Given the description of an element on the screen output the (x, y) to click on. 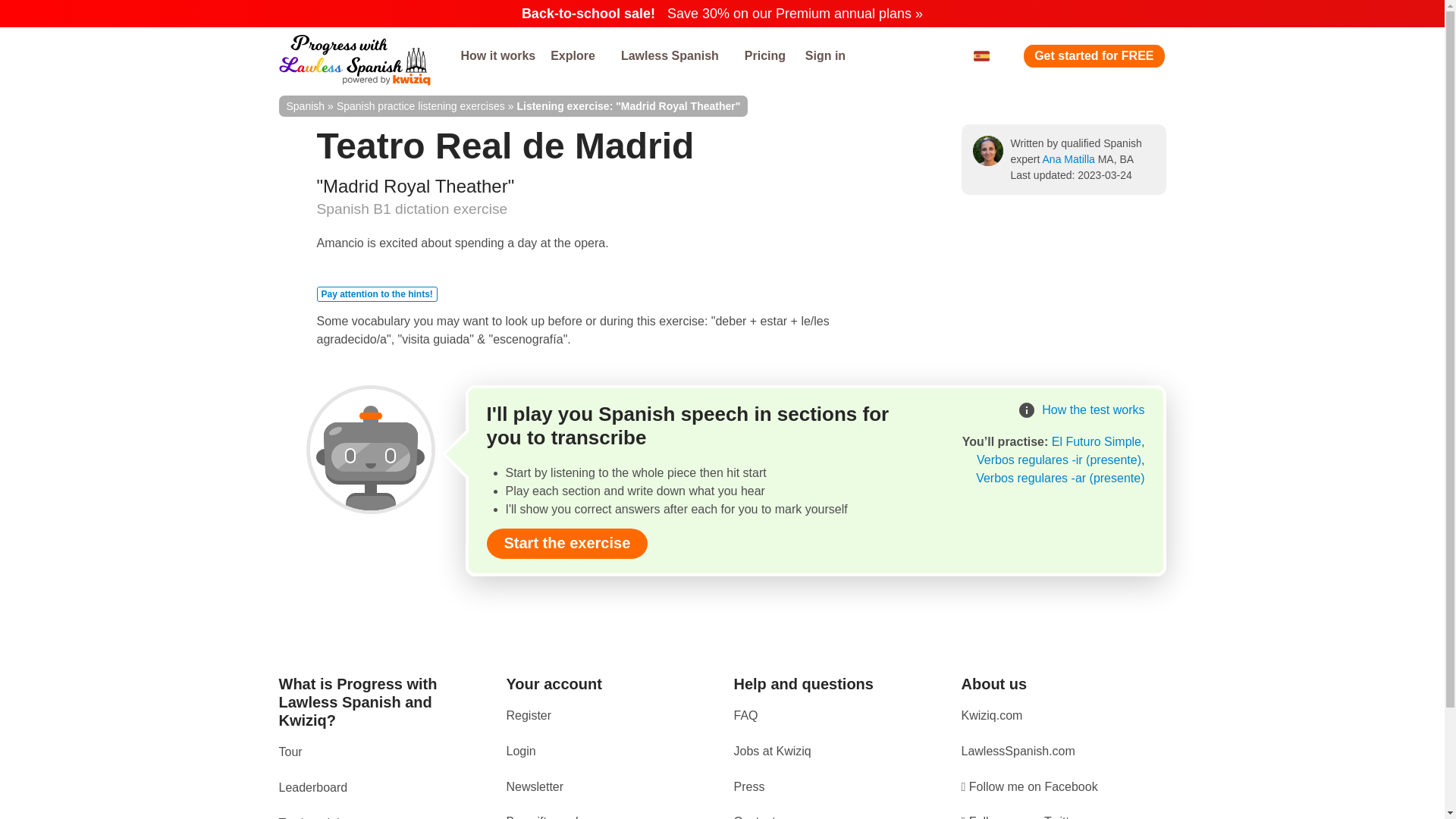
How it works (497, 56)
Lawless Spanish (674, 56)
Explore (577, 56)
